Given the description of an element on the screen output the (x, y) to click on. 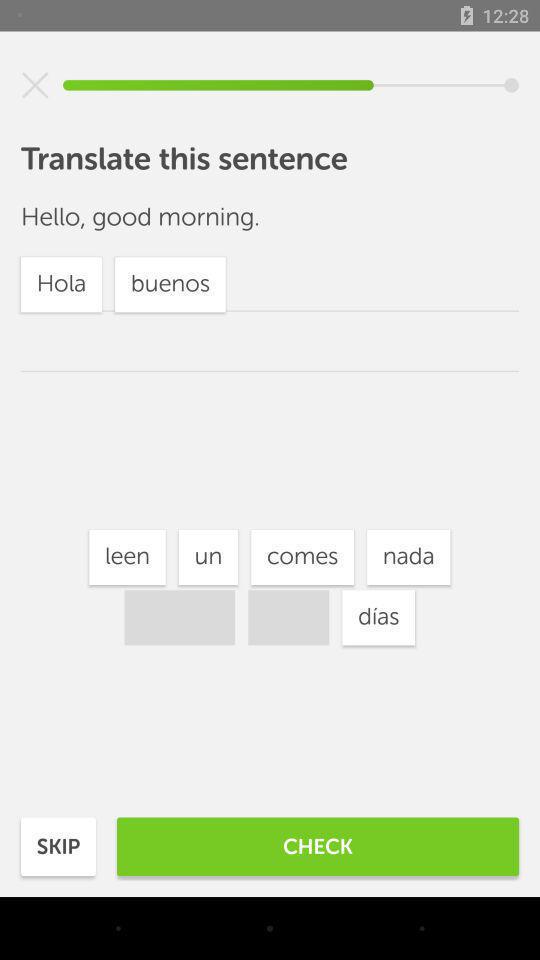
turn on item to the right of the comes item (408, 557)
